Given the description of an element on the screen output the (x, y) to click on. 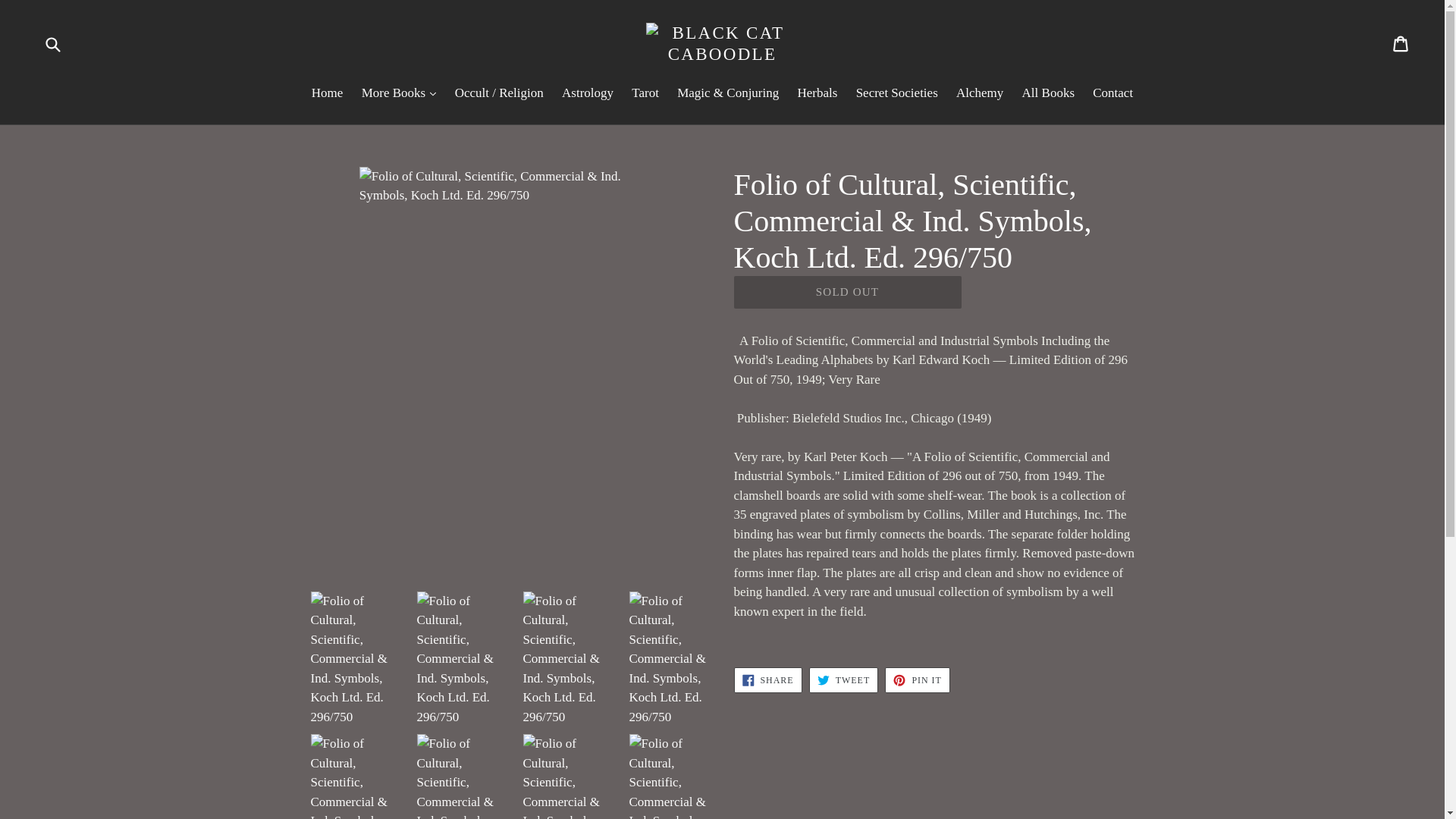
Home (327, 94)
Tweet on Twitter (843, 679)
Tarot (645, 94)
Astrology (587, 94)
Share on Facebook (767, 679)
Pin on Pinterest (917, 679)
